Given the description of an element on the screen output the (x, y) to click on. 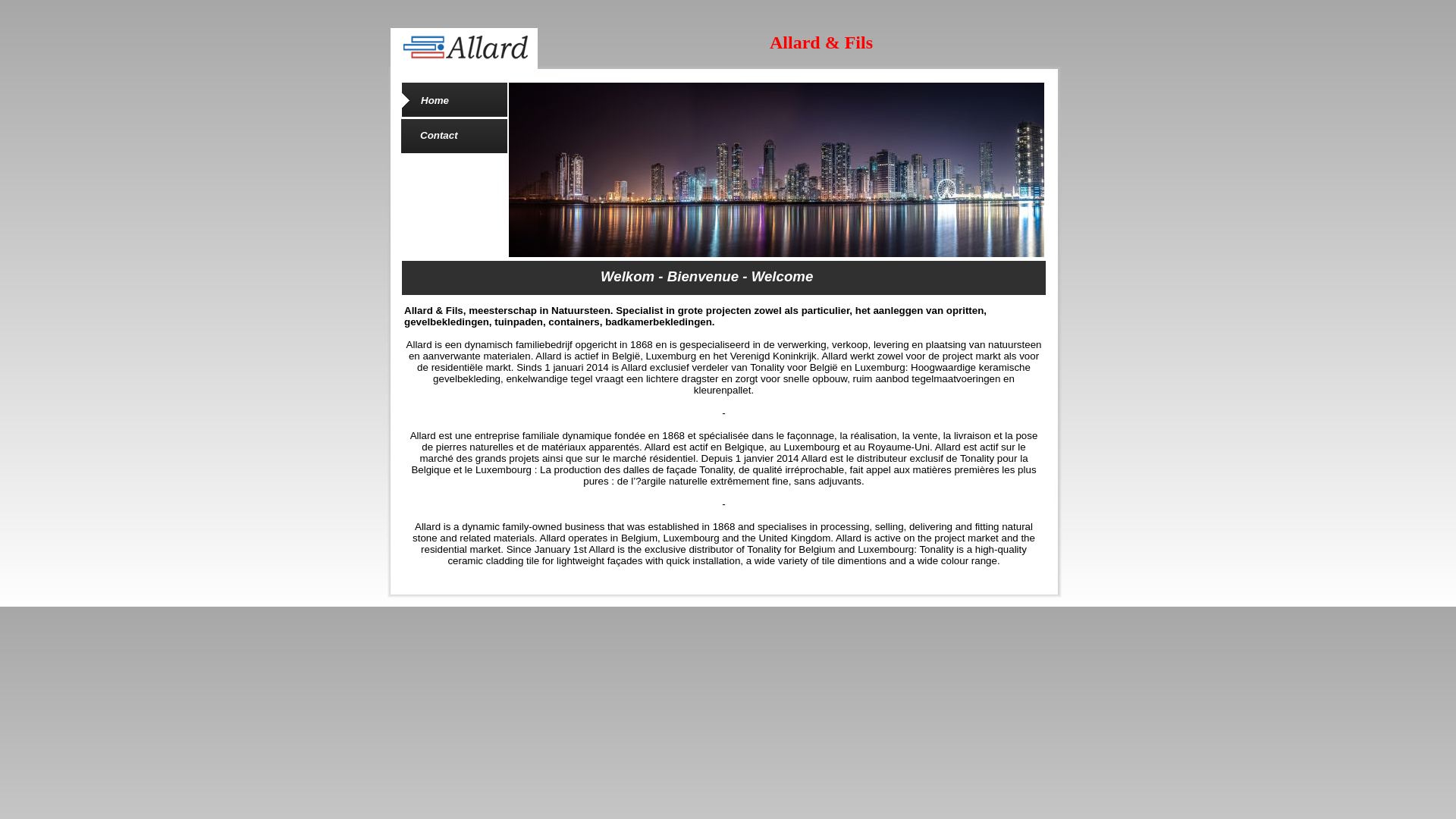
Contact Element type: text (439, 135)
